Given the description of an element on the screen output the (x, y) to click on. 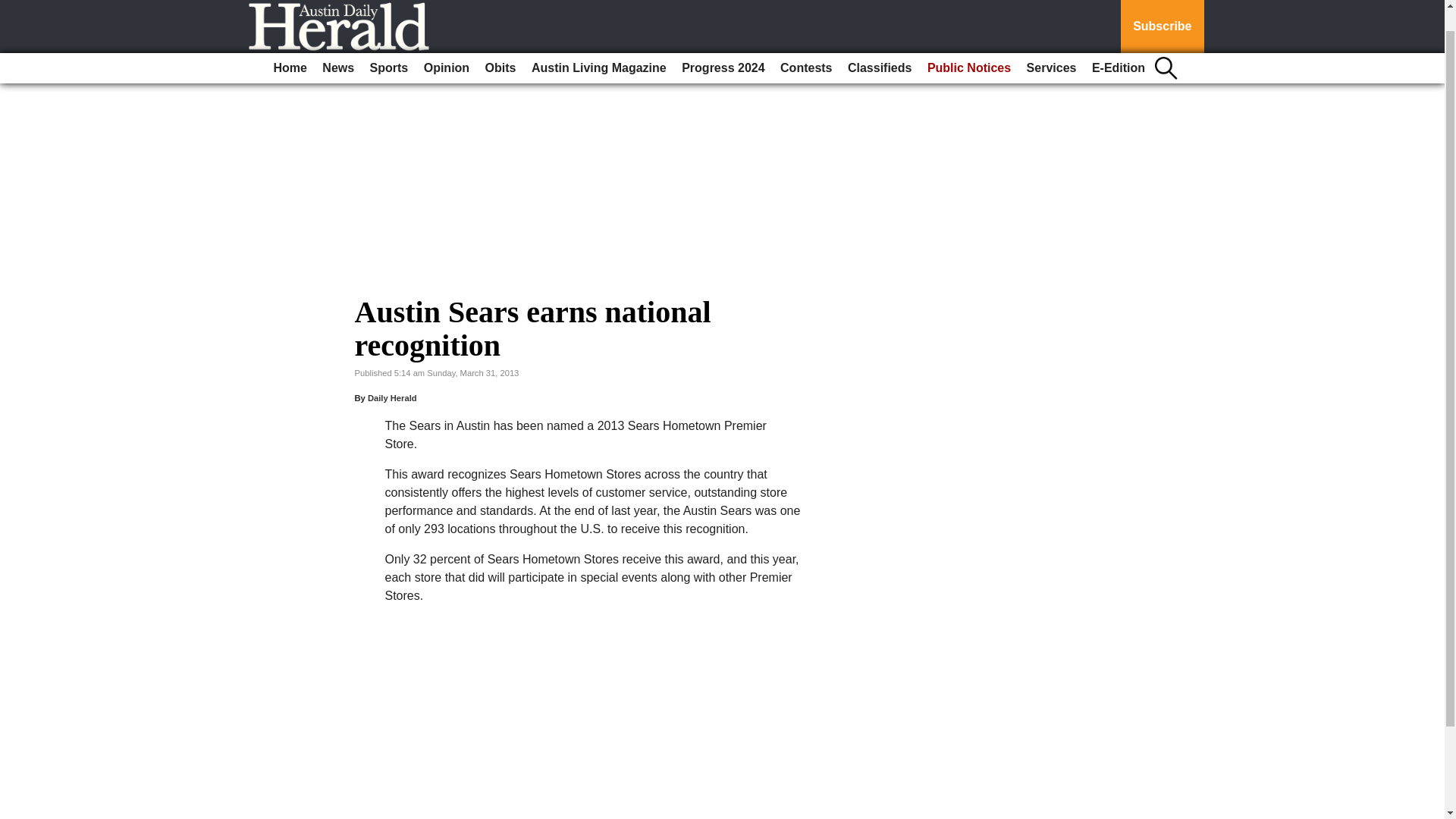
Public Notices (968, 44)
Home (289, 44)
Classifieds (879, 44)
Austin Living Magazine (598, 44)
Subscribe (1162, 14)
News (337, 44)
Services (1051, 44)
Contests (806, 44)
Obits (500, 44)
Progress 2024 (722, 44)
